Given the description of an element on the screen output the (x, y) to click on. 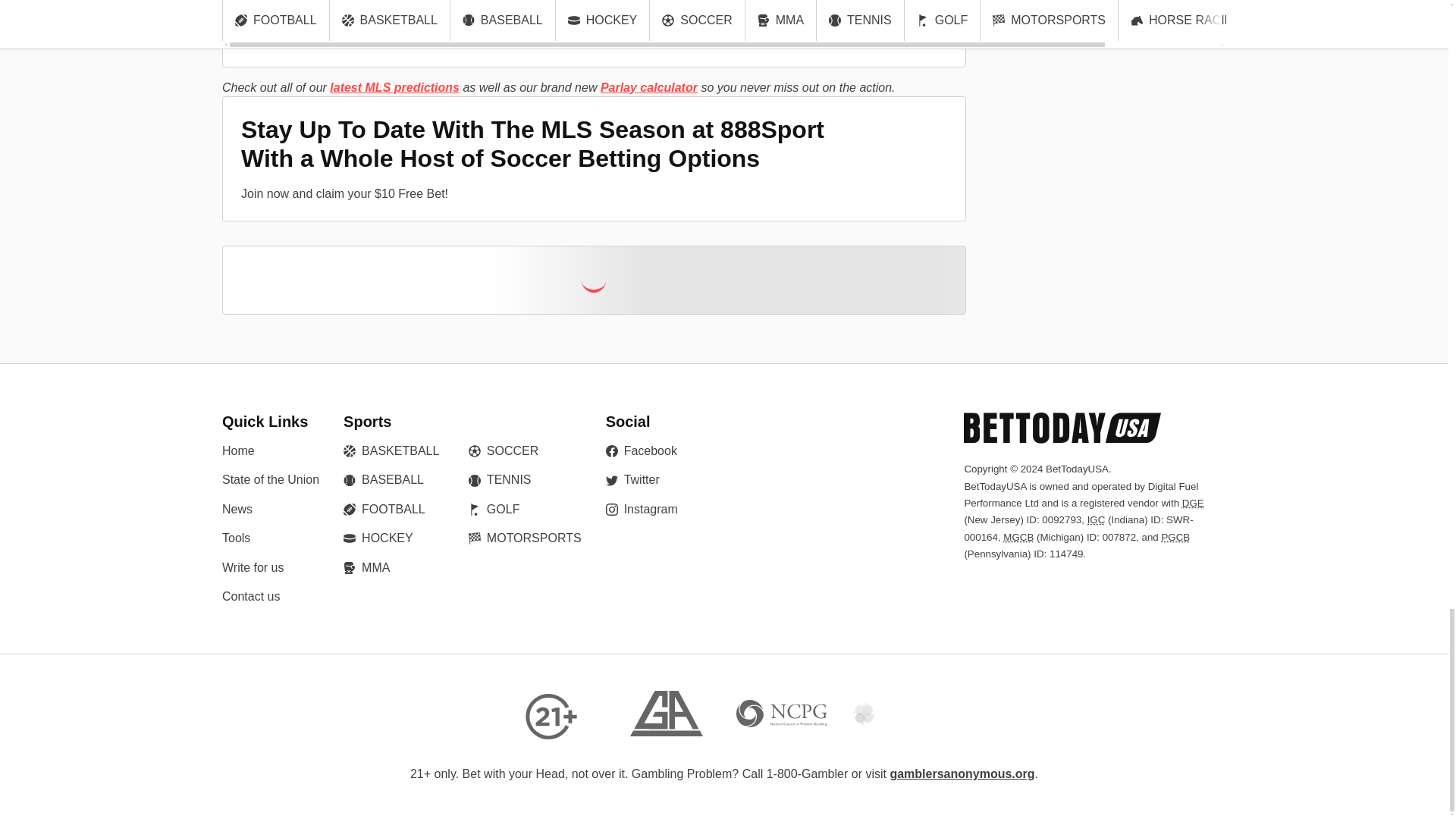
Parlay calculator (648, 87)
New Jersey Division of Gaming Enforcement (1193, 502)
Indiana Gaming Commission (1096, 519)
Michigan Gaming Control Board (1018, 536)
Pennsylvania Gaming Control Board (1174, 536)
latest MLS predictions (395, 87)
